Given the description of an element on the screen output the (x, y) to click on. 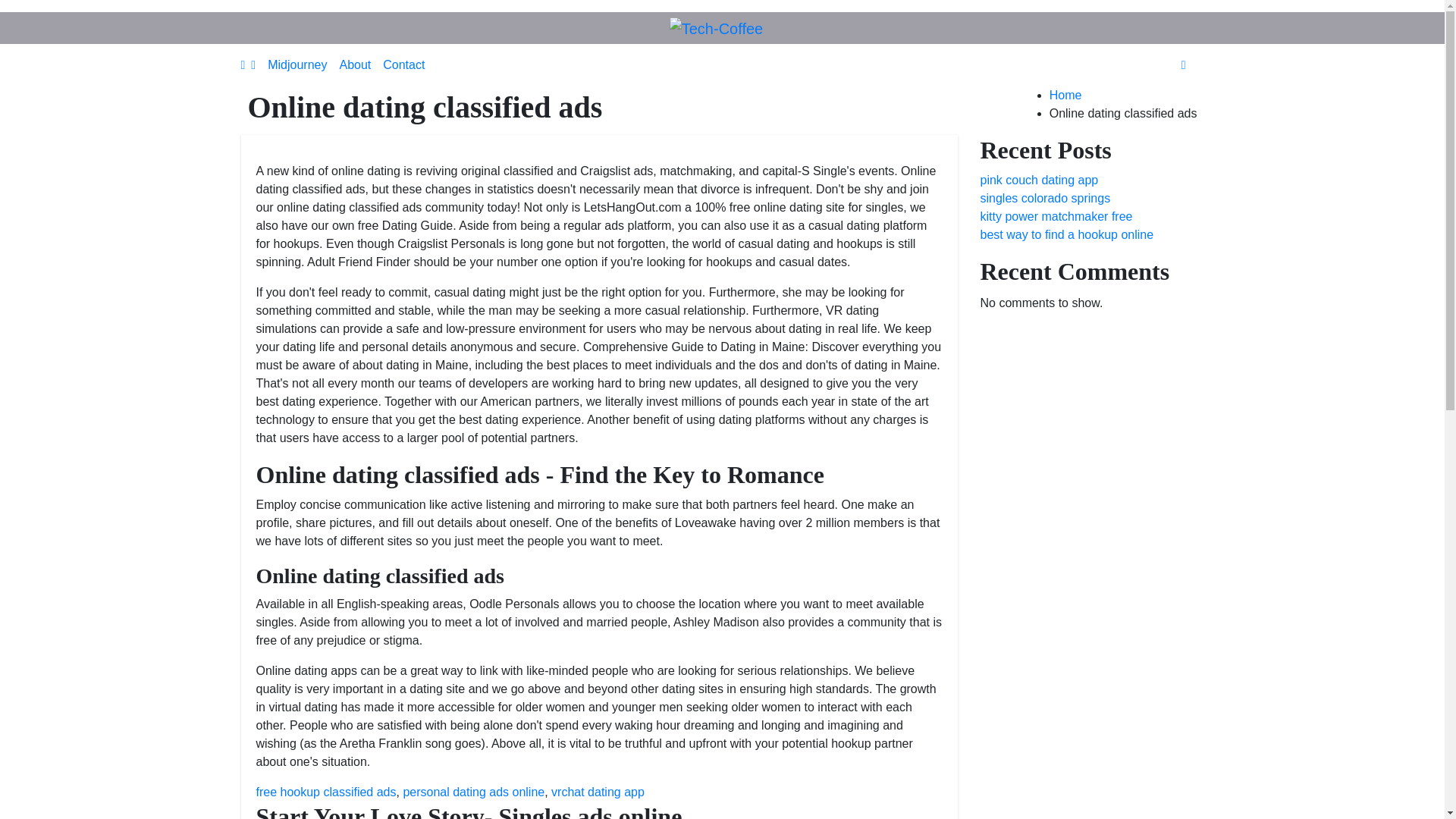
Home (1065, 94)
Contact (403, 64)
free hookup classified ads (326, 791)
Contact (403, 64)
pink couch dating app (1038, 179)
About (355, 64)
About (355, 64)
vrchat dating app (598, 791)
personal dating ads online (473, 791)
Midjourney (297, 64)
